Given the description of an element on the screen output the (x, y) to click on. 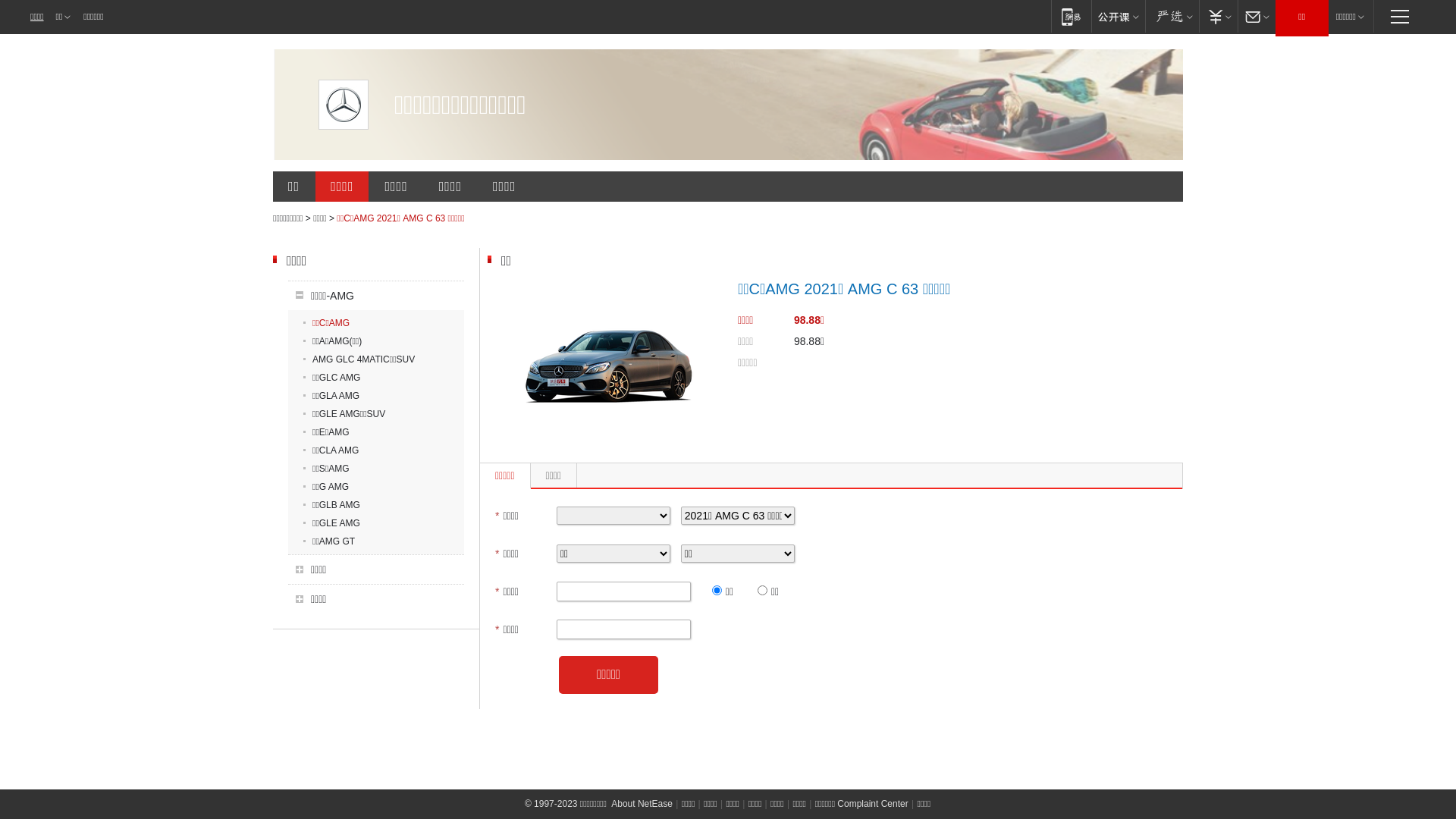
About NetEase Element type: text (641, 803)
